Given the description of an element on the screen output the (x, y) to click on. 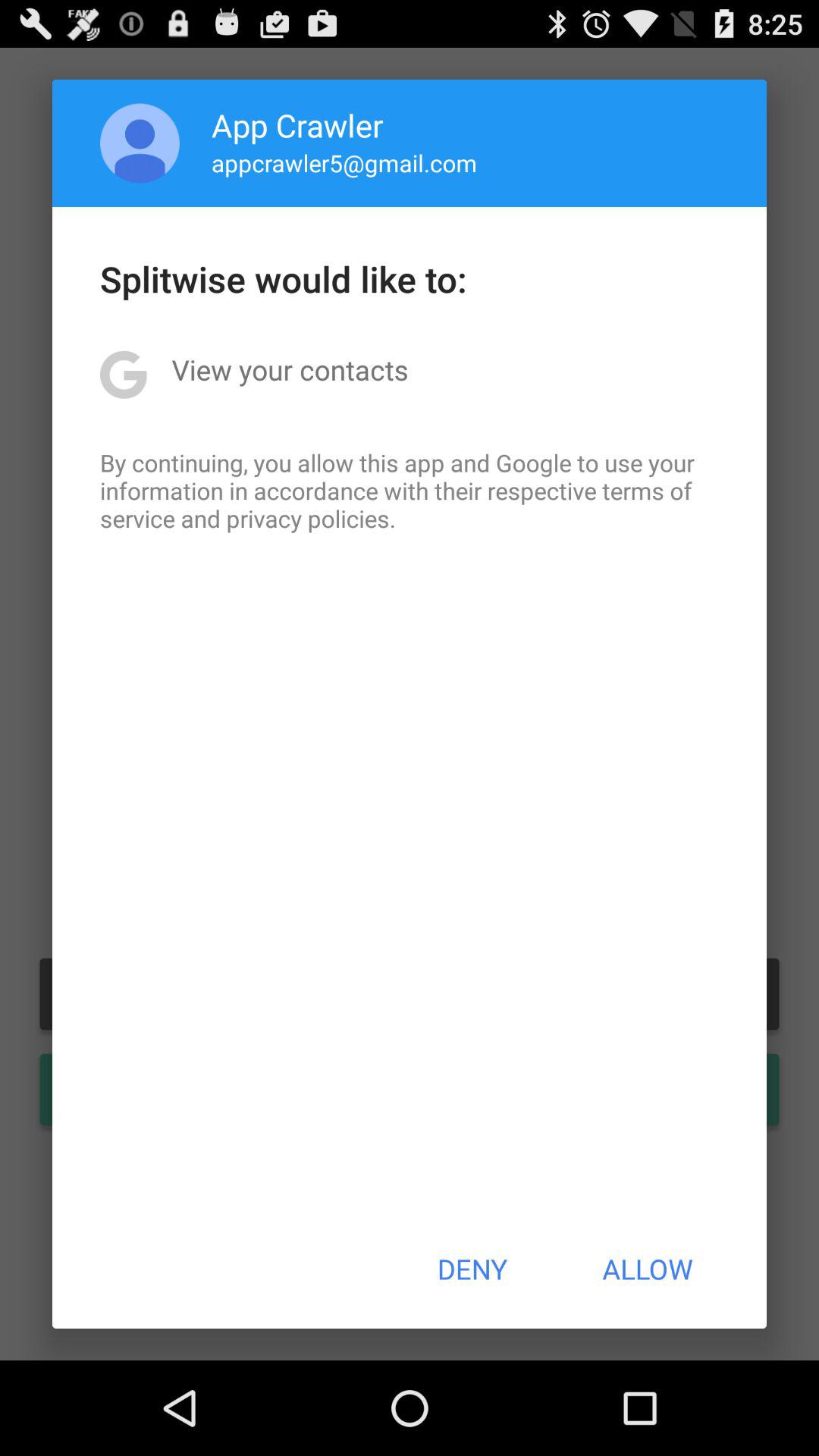
click icon below the by continuing you (471, 1268)
